Given the description of an element on the screen output the (x, y) to click on. 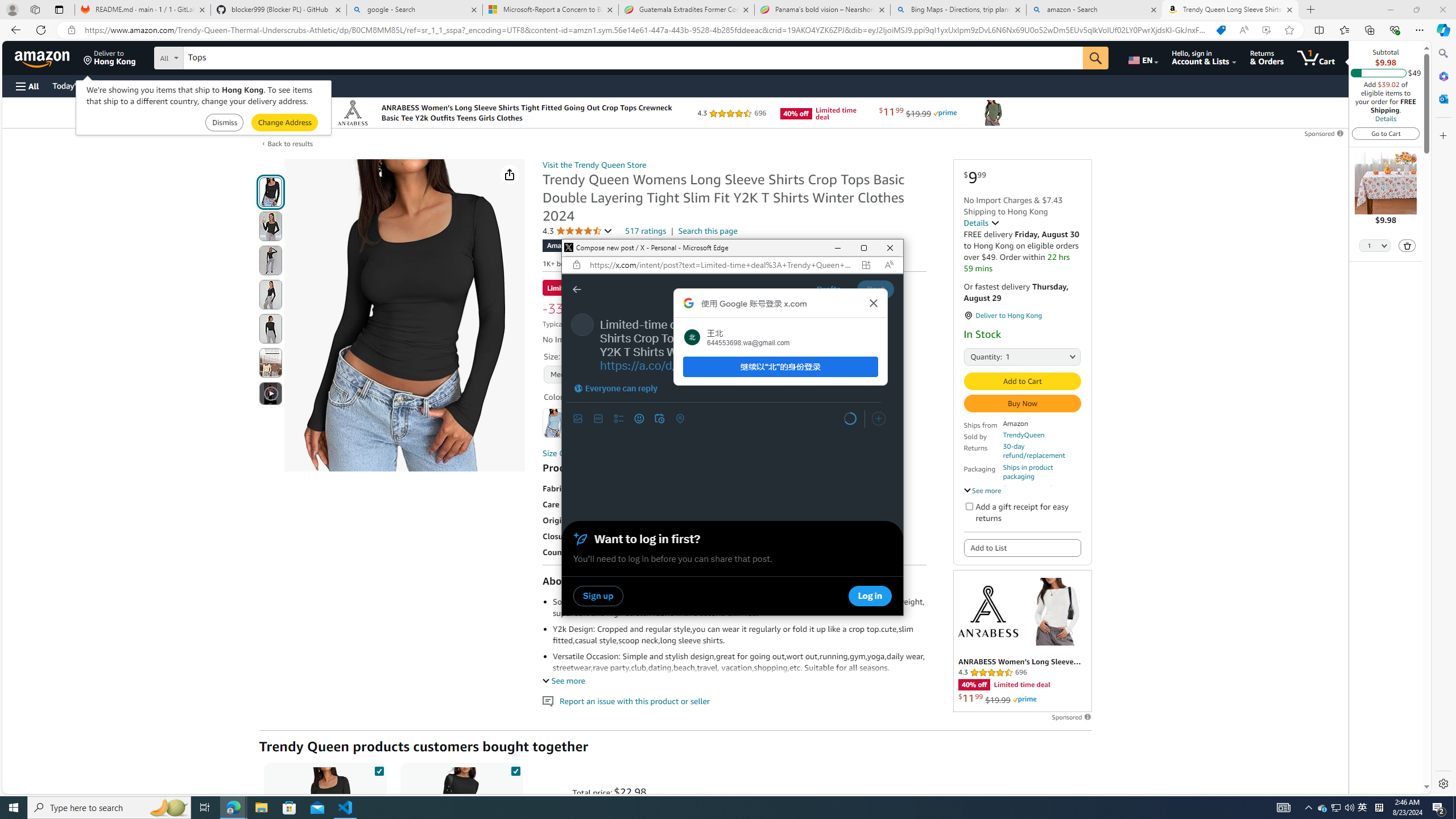
You have the best price! (1220, 29)
Details (1385, 118)
Schedule post (659, 418)
TrendyQueen (1024, 434)
Buy Now (1021, 403)
Deliver to Hong Kong (109, 57)
Today's Deals (76, 85)
Post text (741, 344)
Sponsored ad (1022, 640)
